Given the description of an element on the screen output the (x, y) to click on. 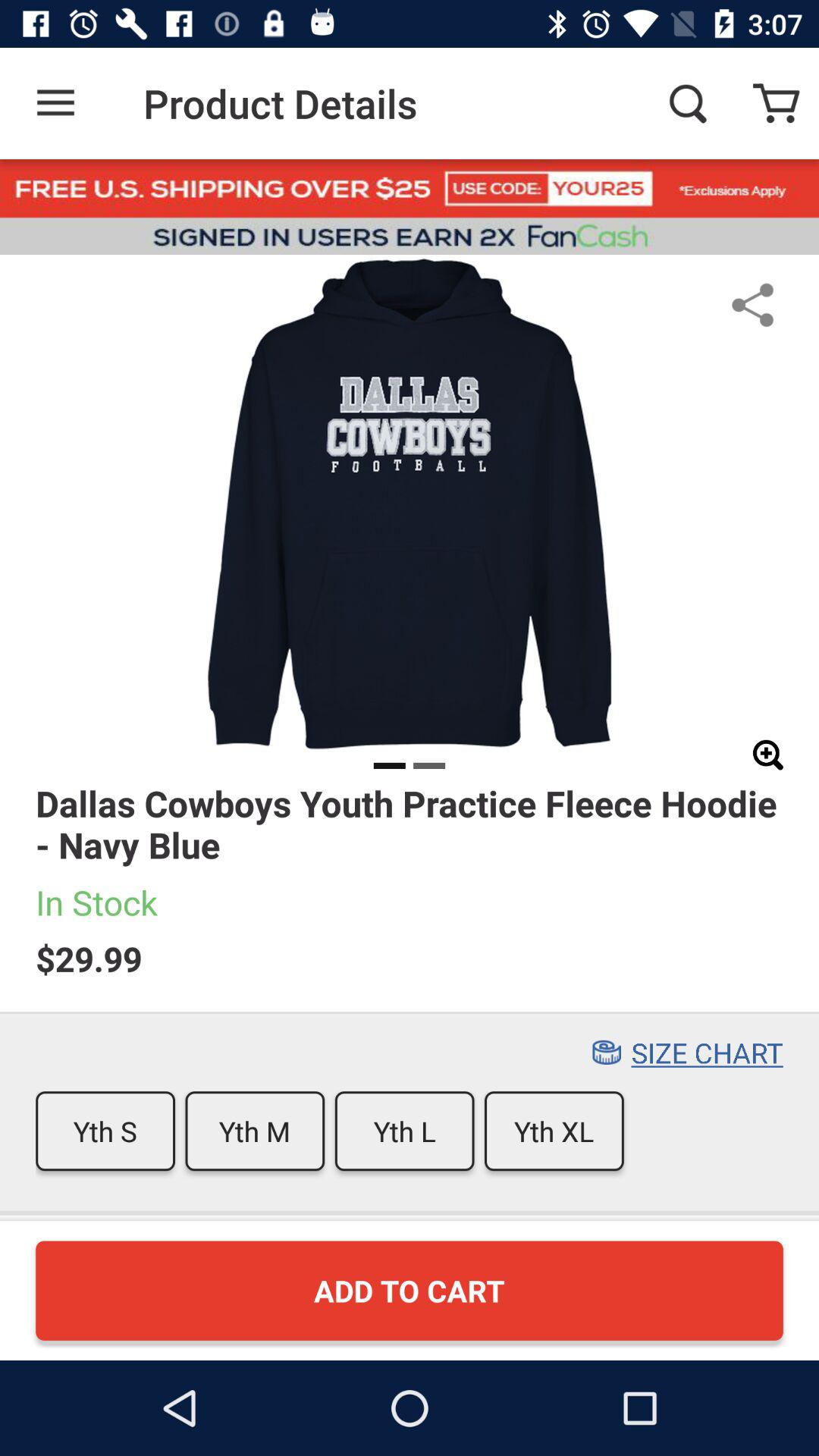
launch icon next to the yth l item (254, 1131)
